Given the description of an element on the screen output the (x, y) to click on. 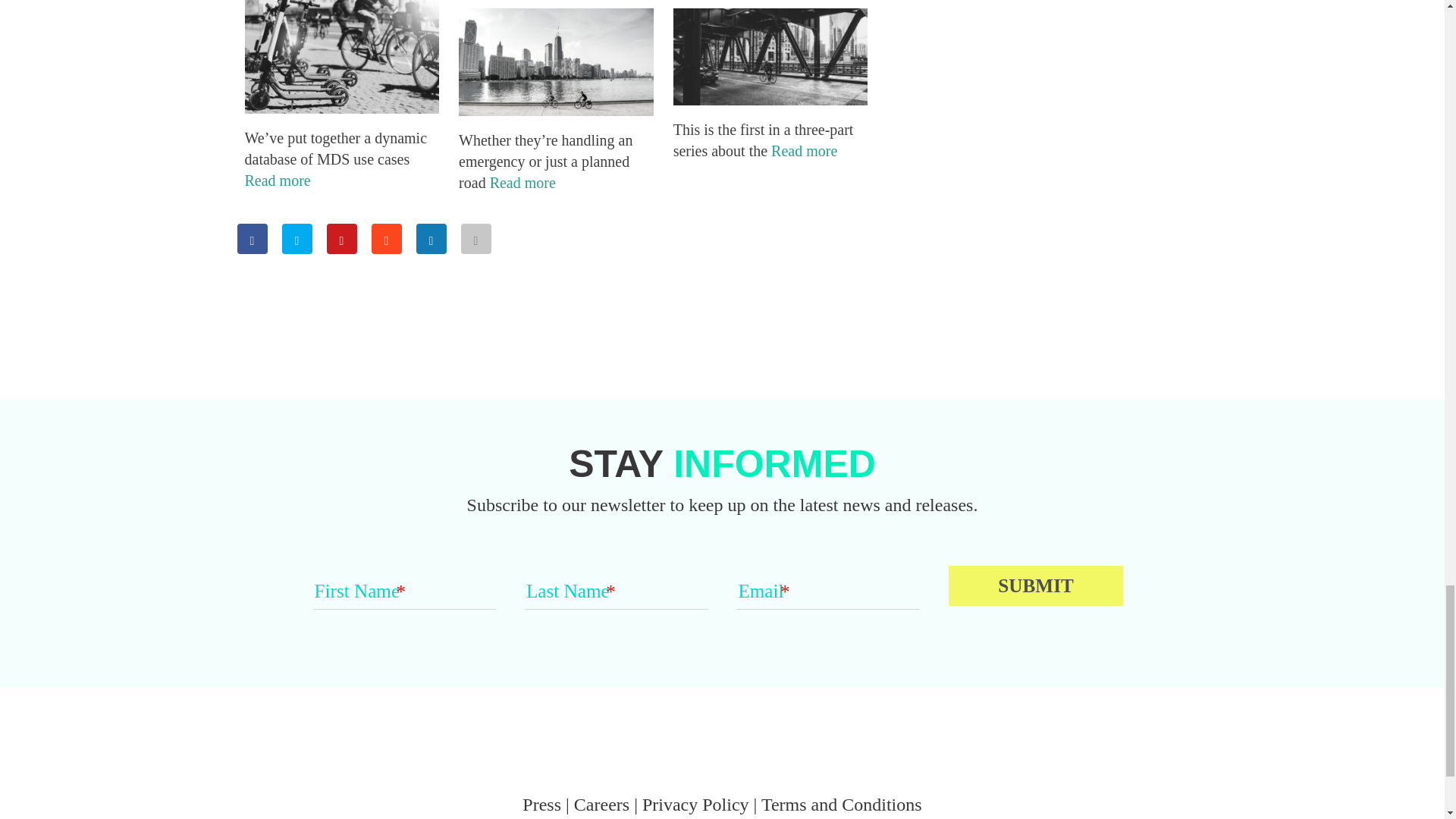
Case Study: How Chicago Used MDS for Special Events (555, 109)
The Vision for the Mobility Data Specification (769, 98)
